Given the description of an element on the screen output the (x, y) to click on. 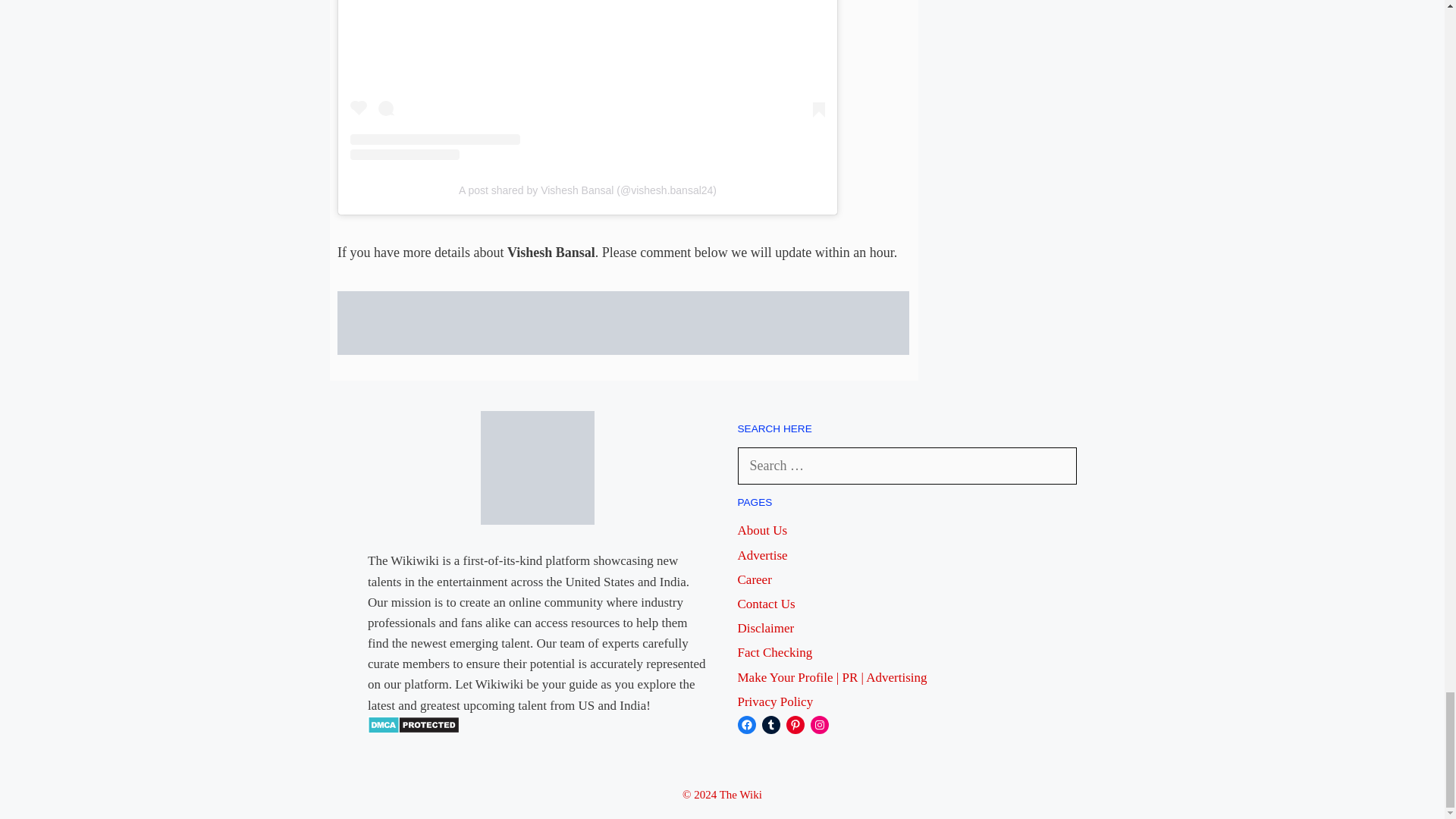
Search for: (906, 465)
View this post on Instagram (587, 80)
DMCA.com Protection Status (414, 729)
